Given the description of an element on the screen output the (x, y) to click on. 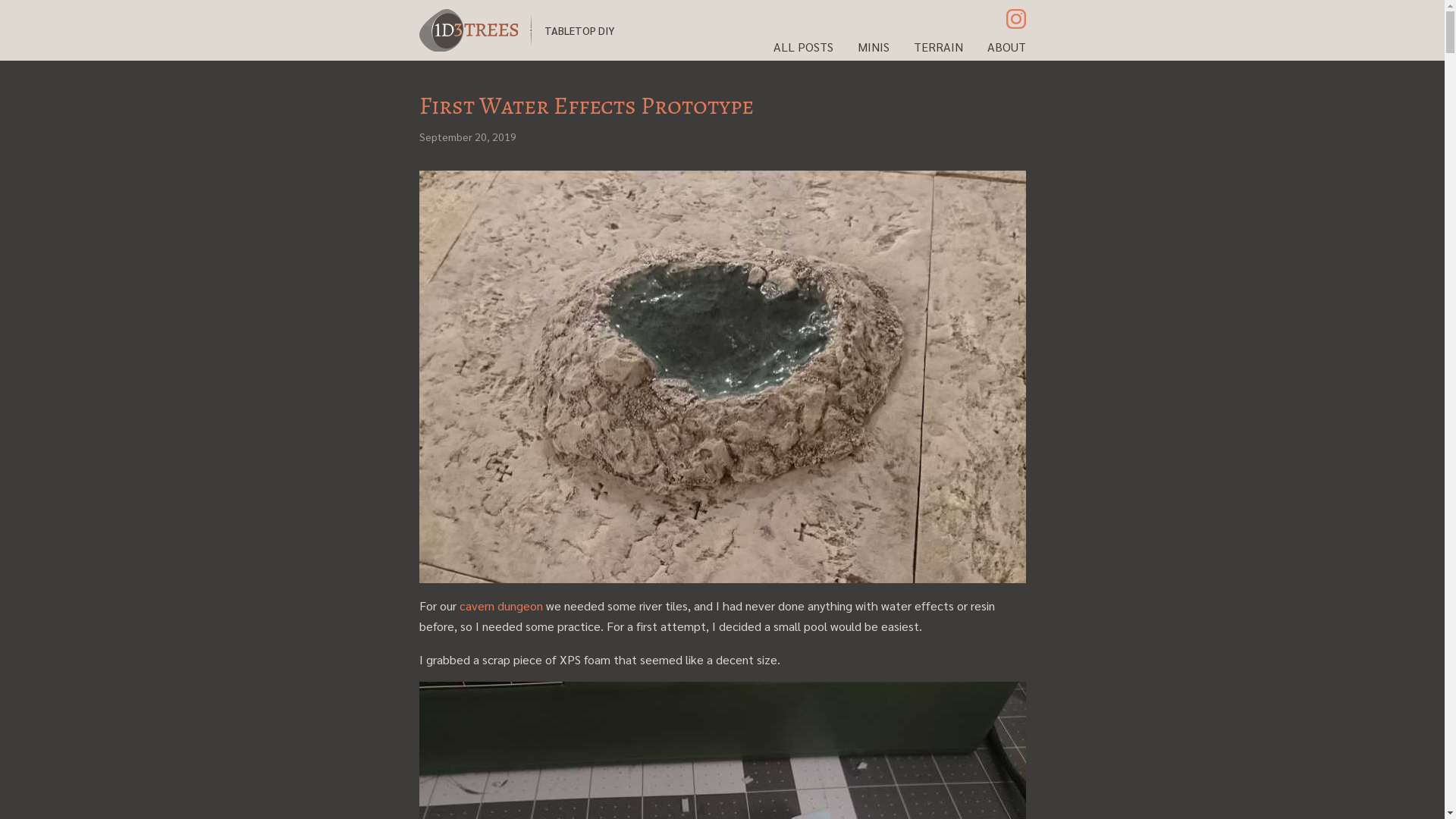
ABOUT Element type: text (1006, 46)
sitting-on-cave-tiles Element type: hover (721, 376)
ALL POSTS Element type: text (803, 46)
TERRAIN Element type: text (937, 46)
MINIS Element type: text (872, 46)
cavern dungeon Element type: text (500, 605)
